Given the description of an element on the screen output the (x, y) to click on. 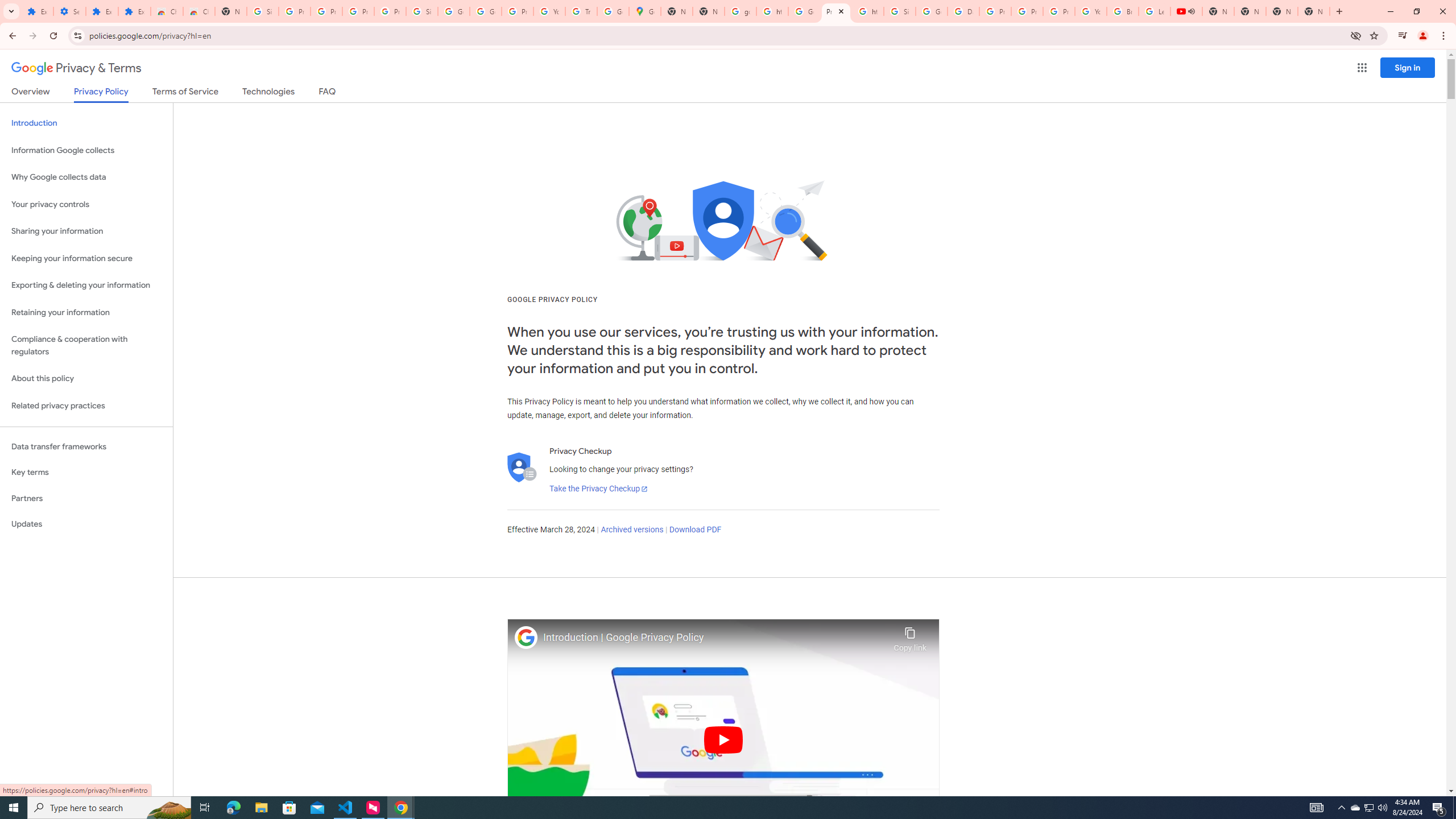
Why Google collects data (86, 176)
Extensions (134, 11)
YouTube (549, 11)
Data transfer frameworks (86, 446)
Sign in - Google Accounts (421, 11)
